Given the description of an element on the screen output the (x, y) to click on. 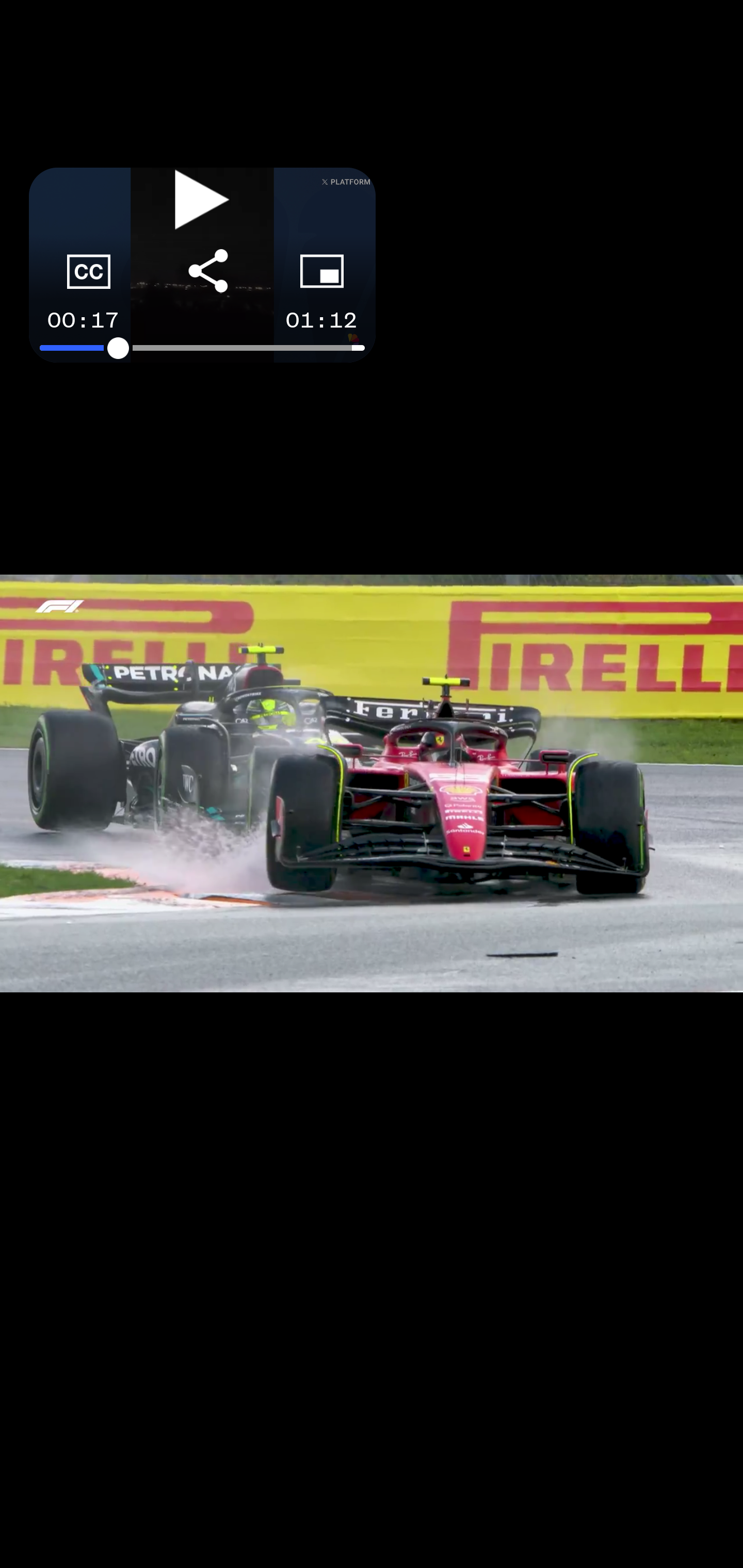
Video Player (371, 783)
